Given the description of an element on the screen output the (x, y) to click on. 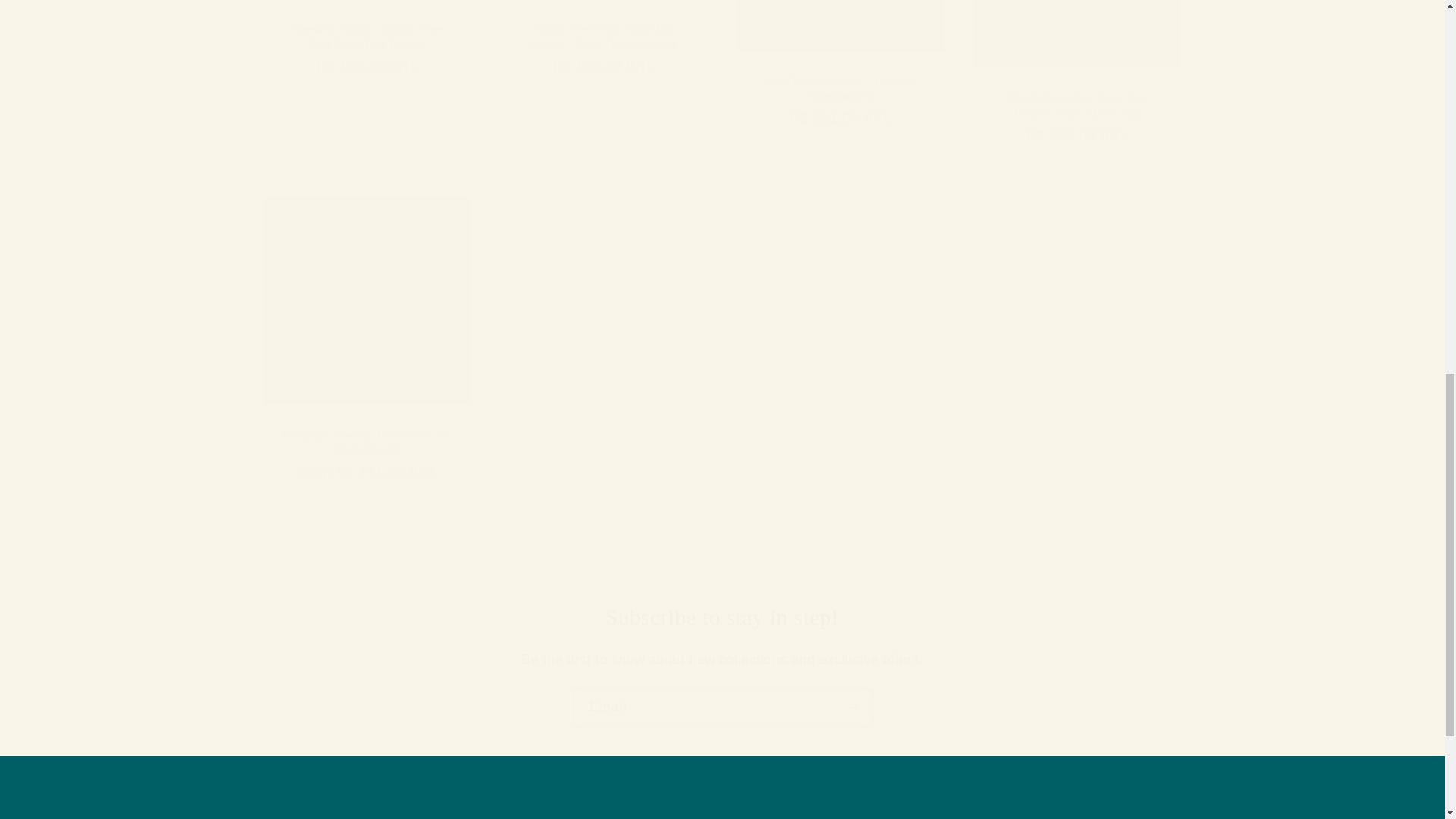
Email (722, 707)
Subscribe to stay in step! (722, 617)
